Given the description of an element on the screen output the (x, y) to click on. 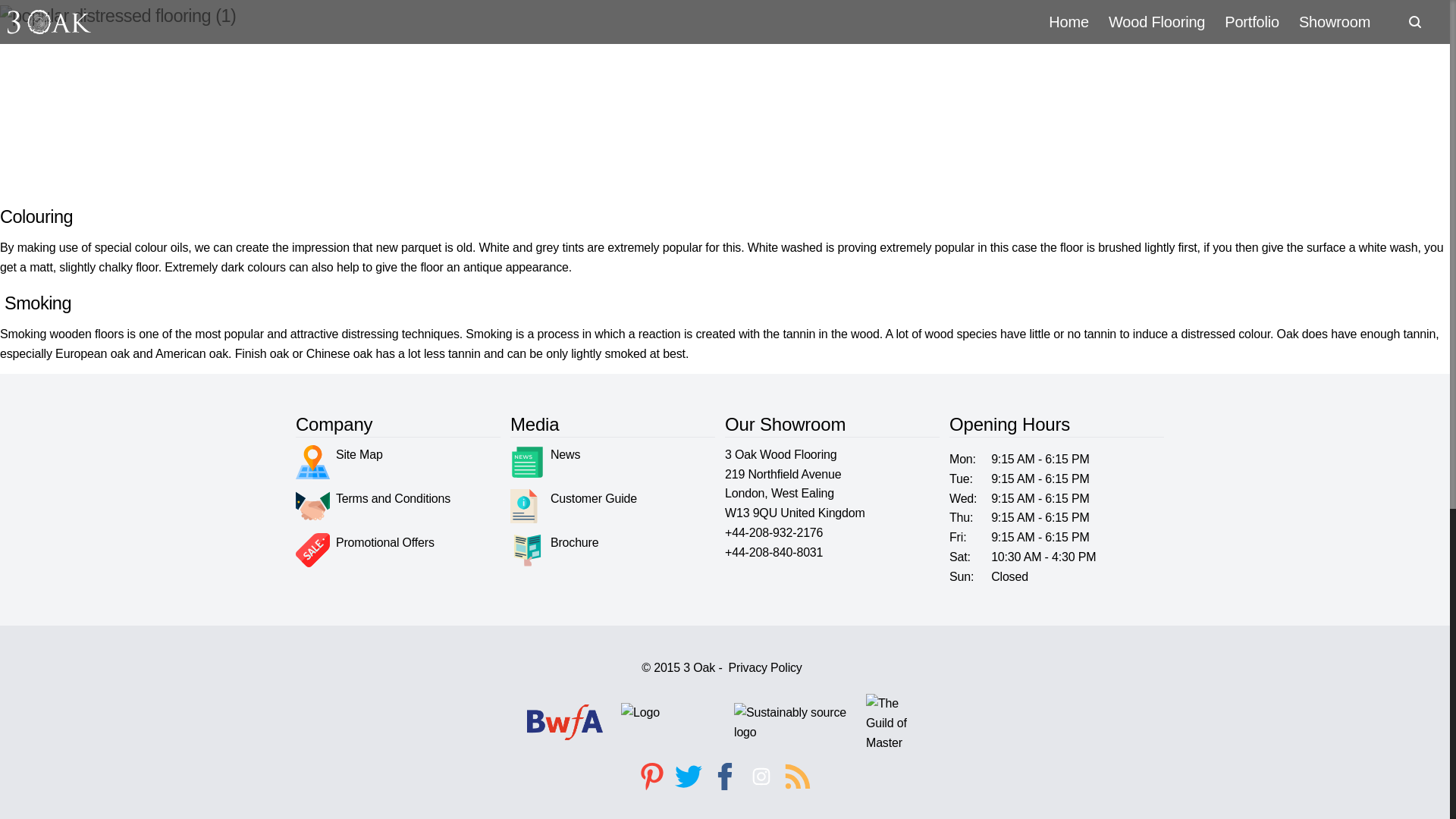
News (545, 462)
News (545, 462)
Promotional Offers (364, 550)
Site Map (338, 462)
Customer Guide (574, 505)
Brochure (554, 550)
Brochure (554, 550)
Customer Guide (574, 505)
Terms and Conditions (372, 505)
pinterest (651, 776)
